Given the description of an element on the screen output the (x, y) to click on. 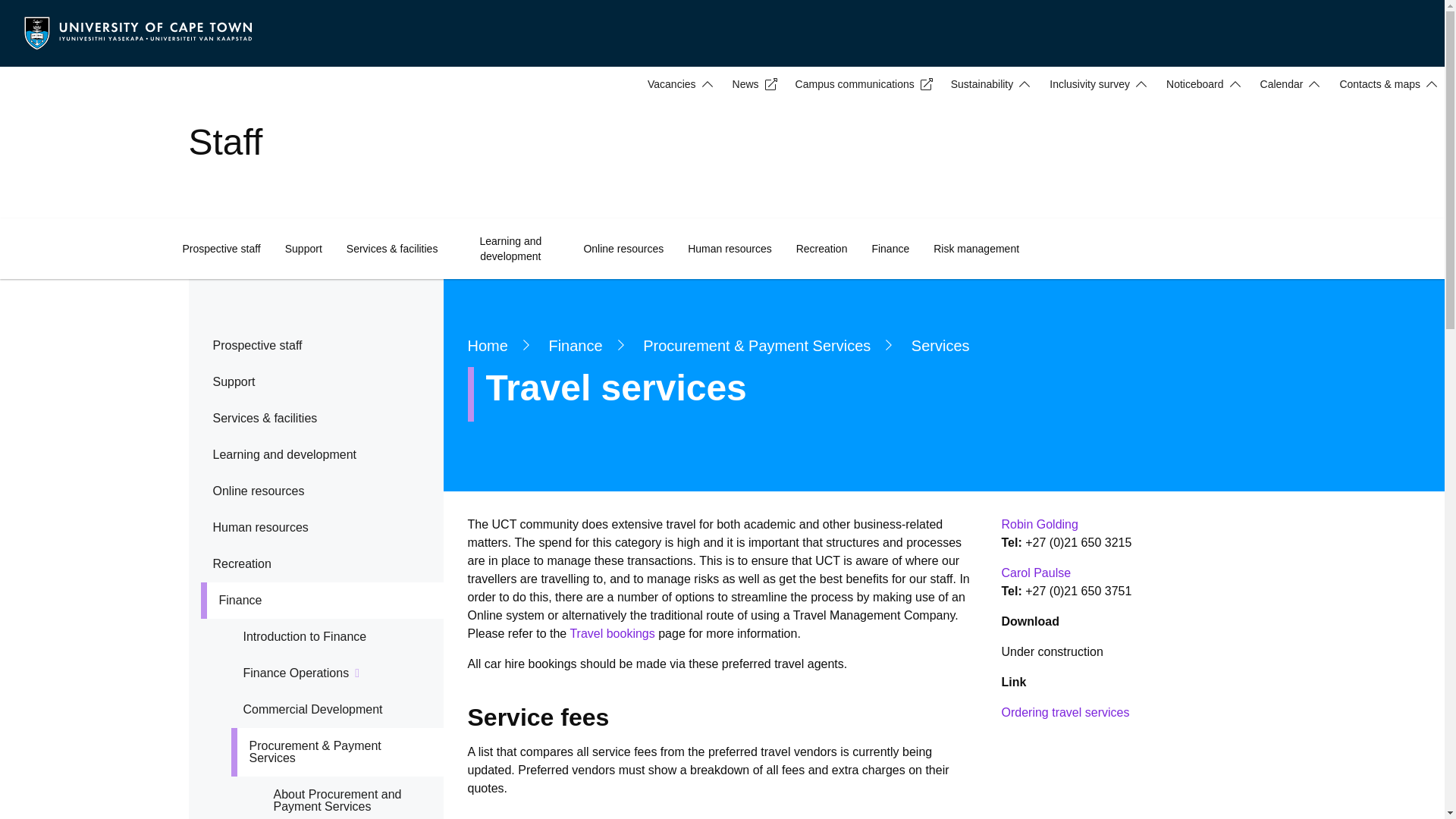
Inclusivity survey (1095, 83)
Campus communications (861, 83)
Home (137, 31)
News (751, 83)
Calendar (1287, 83)
Sustainability (988, 83)
Submit (32, 15)
